Given the description of an element on the screen output the (x, y) to click on. 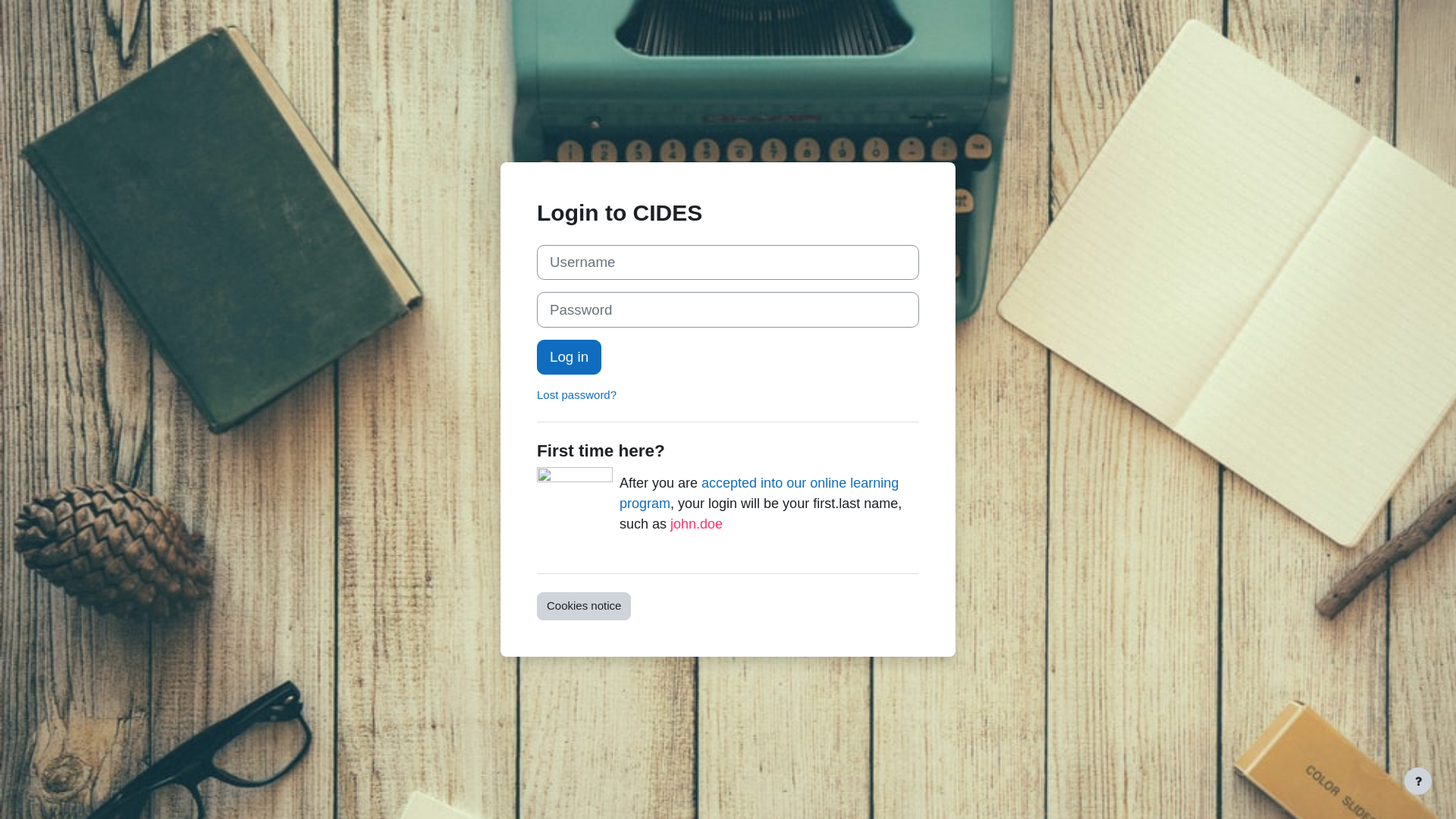
accepted into our online learning program Element type: text (758, 493)
Log in Element type: text (568, 356)
Lost password? Element type: text (576, 394)
Cookies notice Element type: text (583, 606)
